Given the description of an element on the screen output the (x, y) to click on. 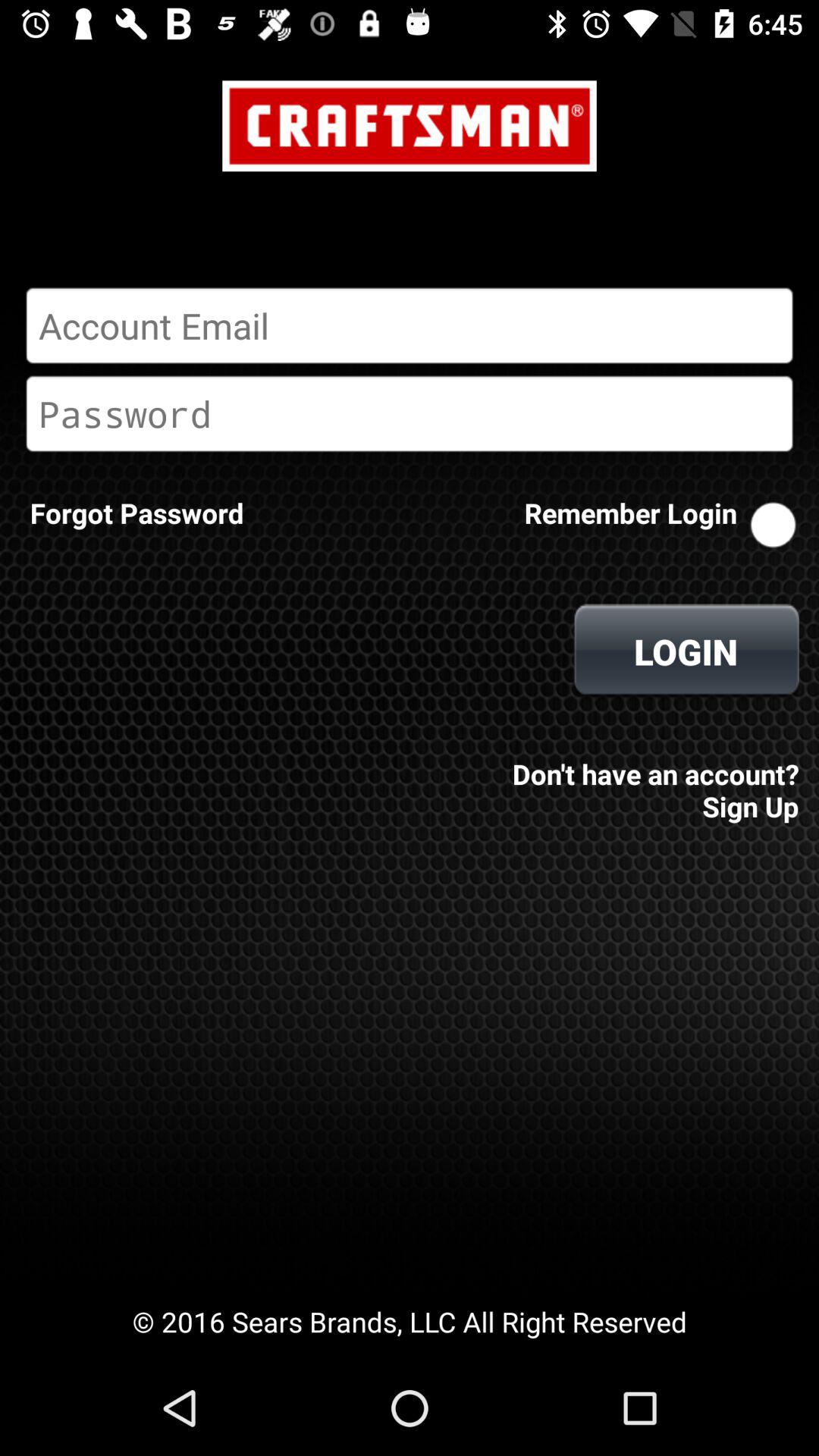
click the icon to the left of remember login (136, 512)
